Given the description of an element on the screen output the (x, y) to click on. 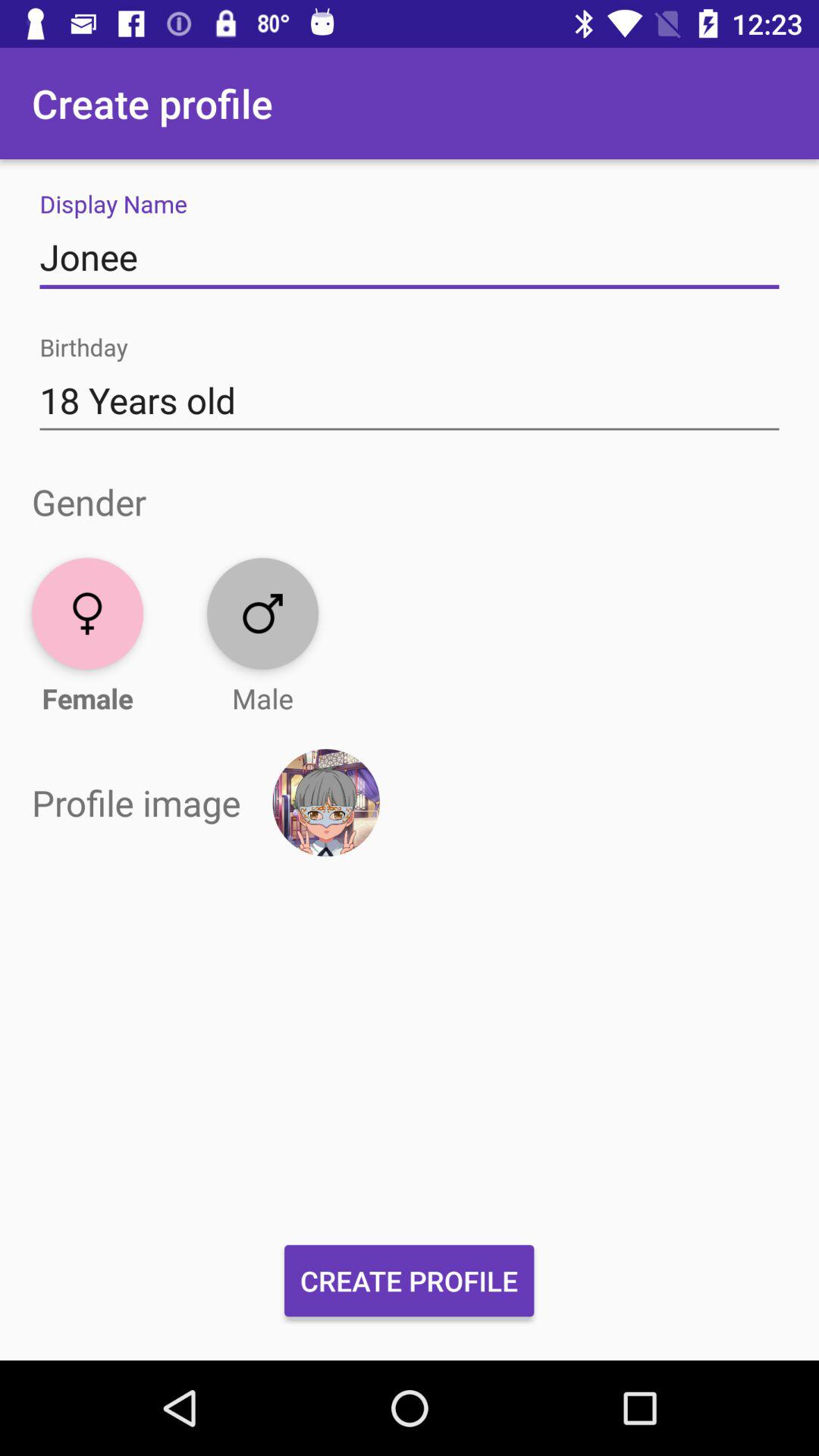
male icon (262, 613)
